Given the description of an element on the screen output the (x, y) to click on. 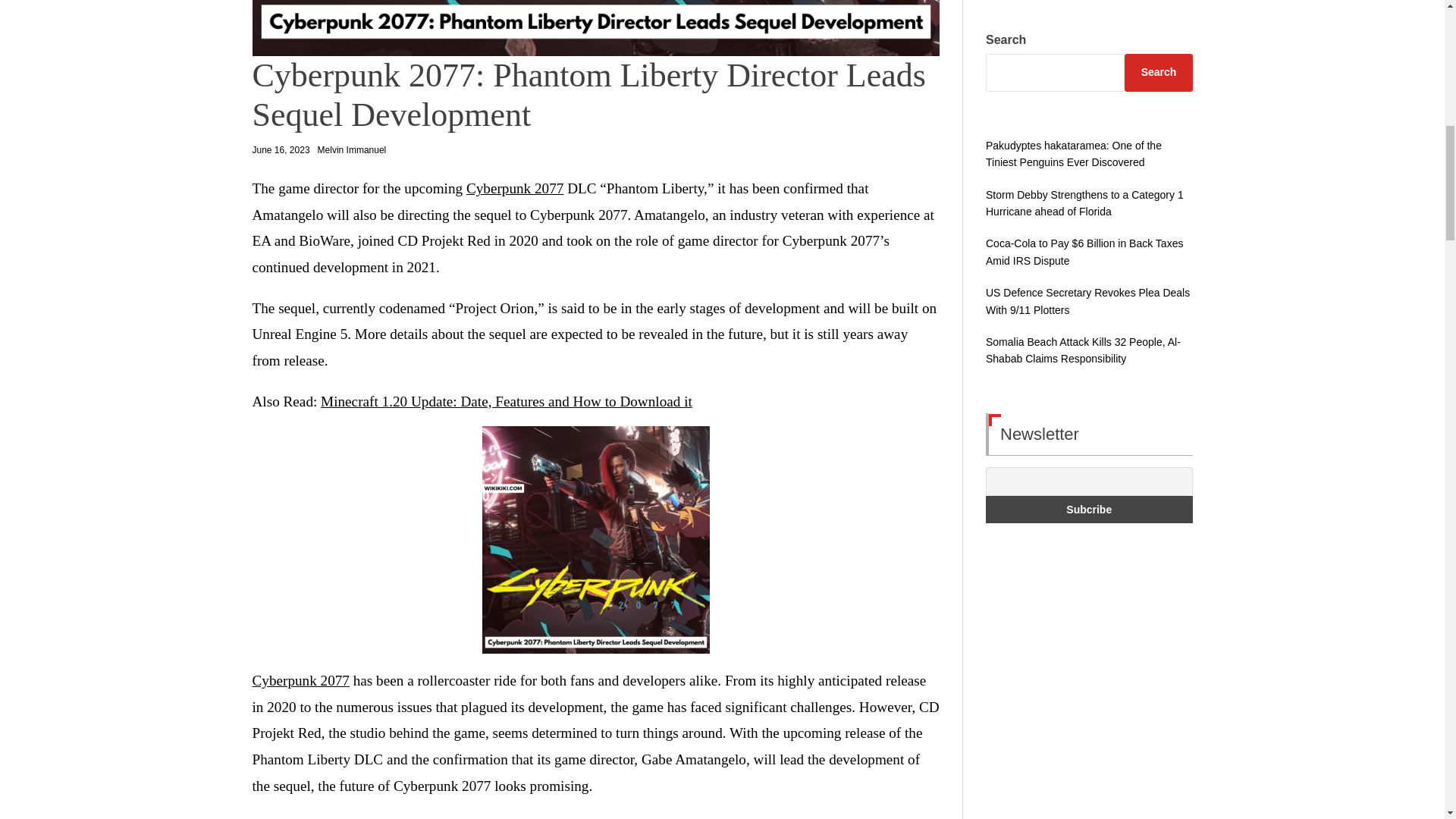
Melvin Immanuel (352, 149)
Cyberpunk 2077 (514, 188)
Cyberpunk 2077 (300, 680)
June 16, 2023 (279, 150)
Minecraft 1.20 Update: Date, Features and How to Download it (506, 401)
